Given the description of an element on the screen output the (x, y) to click on. 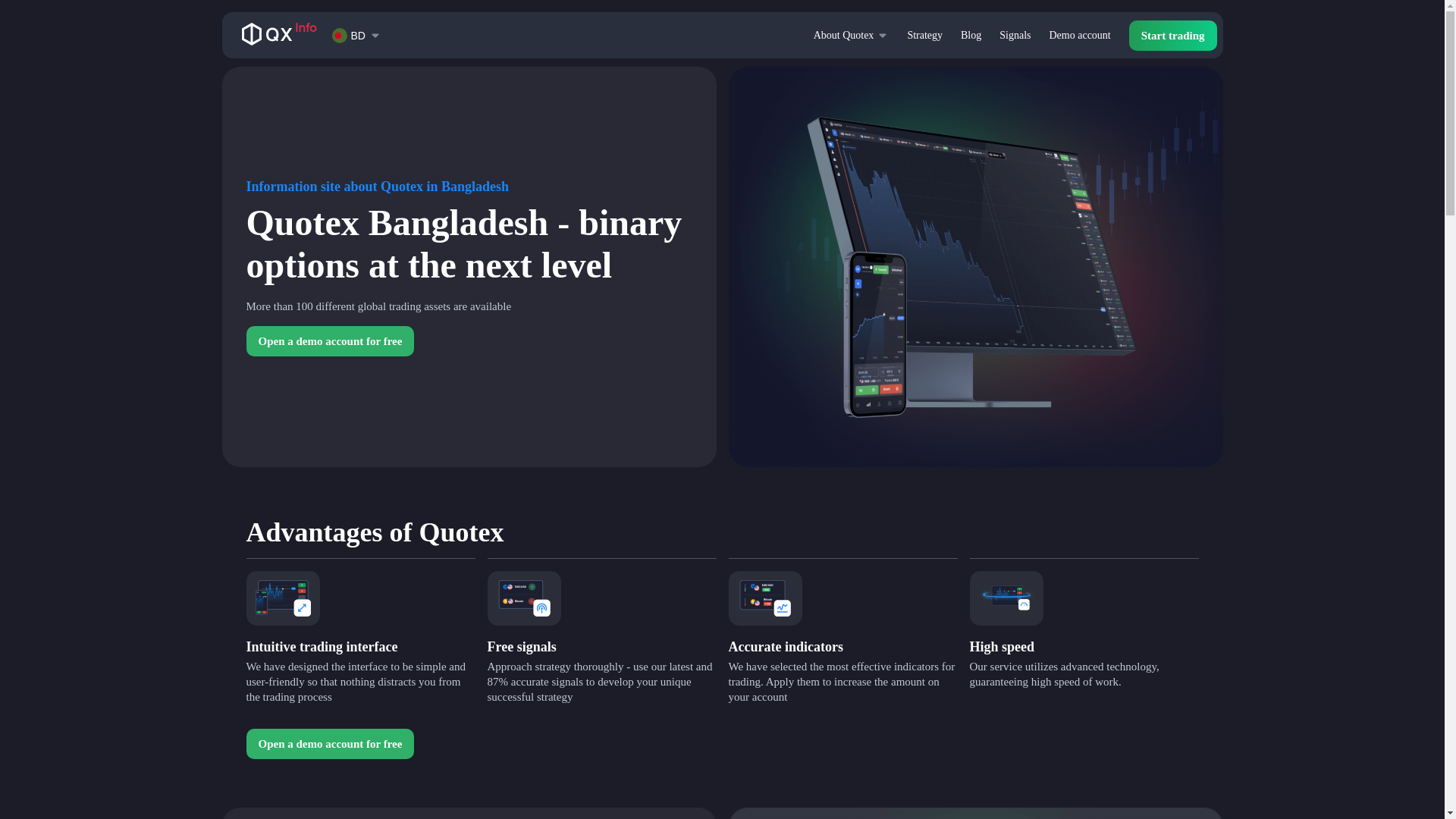
BD (348, 34)
Strategy (924, 34)
Blog (970, 34)
About Quotex (844, 34)
